Given the description of an element on the screen output the (x, y) to click on. 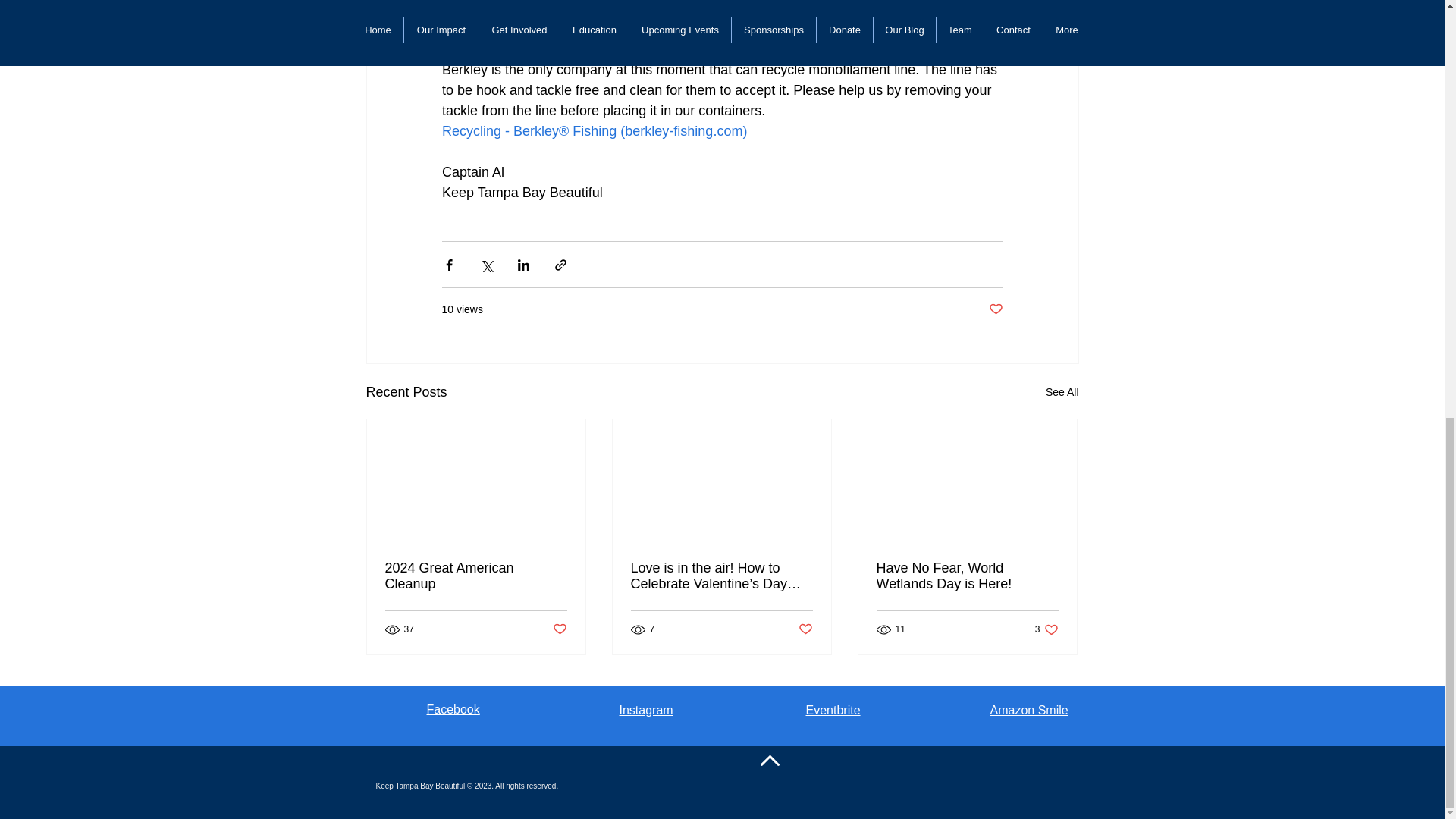
See All (1061, 392)
Post not marked as liked (804, 629)
2024 Great American Cleanup (476, 576)
Post not marked as liked (558, 629)
Post not marked as liked (995, 309)
